Given the description of an element on the screen output the (x, y) to click on. 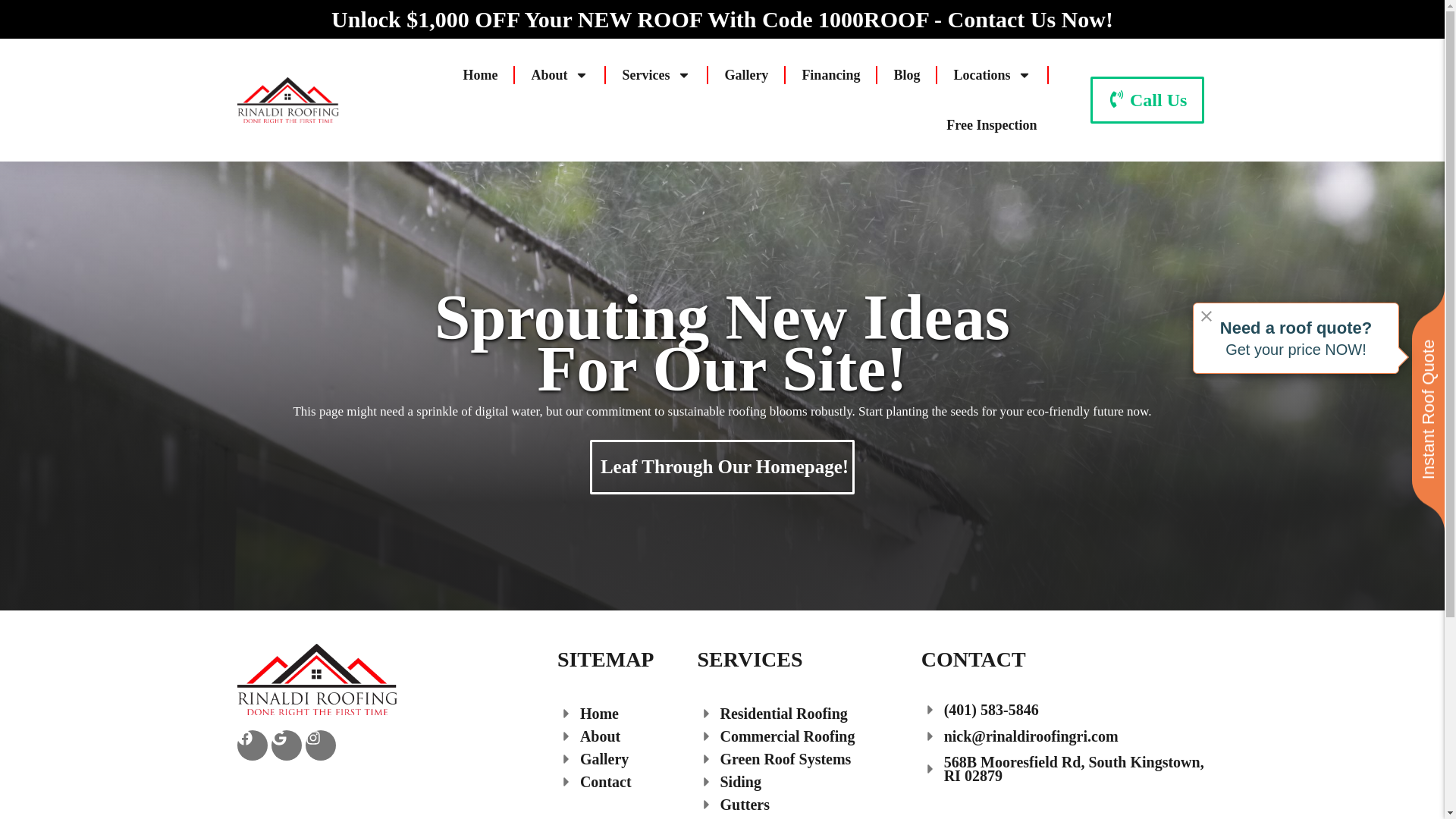
Blog (905, 74)
Locations (991, 74)
Services (656, 74)
Gallery (745, 74)
Home (479, 74)
Financing (830, 74)
About (558, 74)
